Given the description of an element on the screen output the (x, y) to click on. 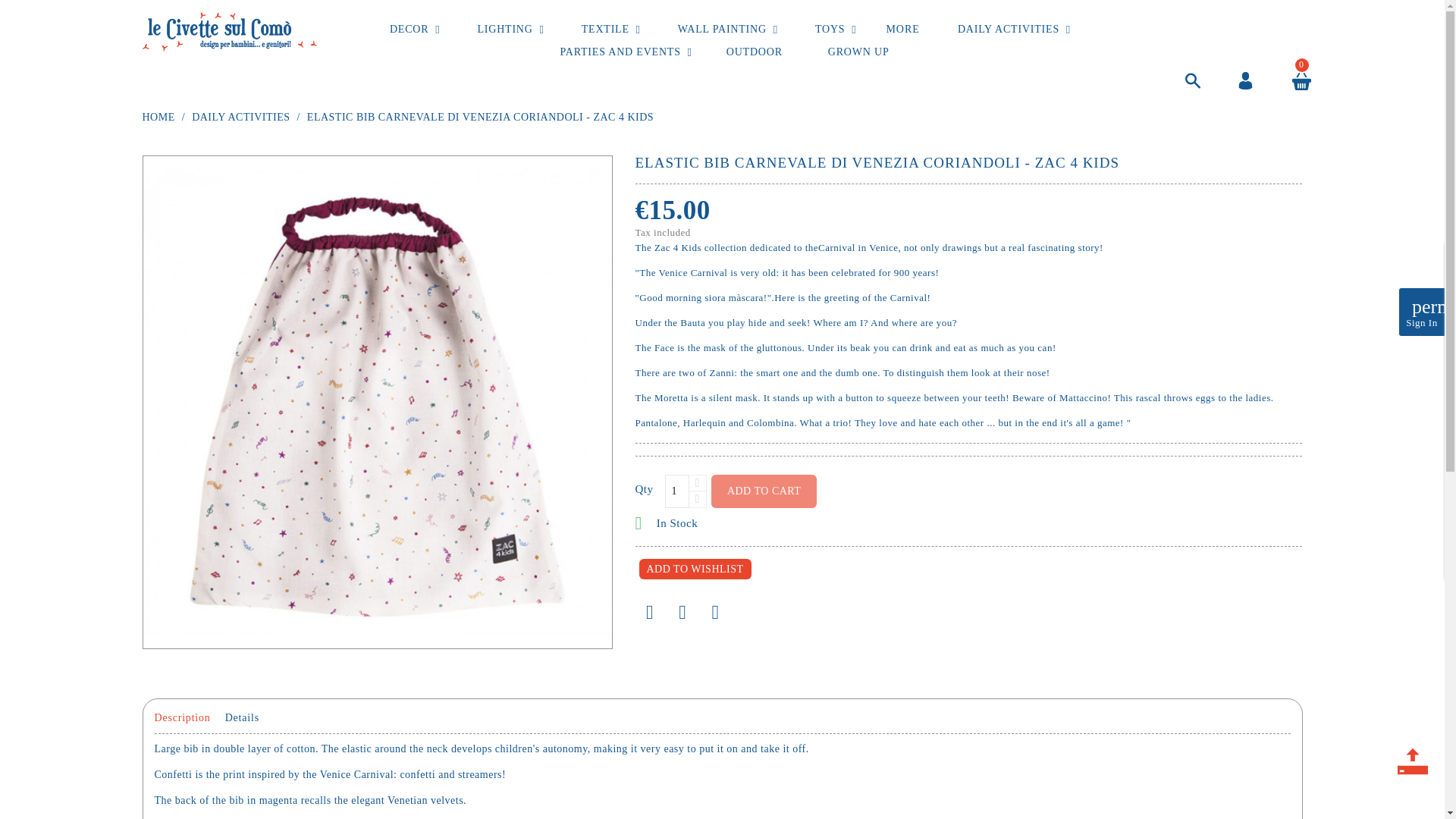
WALL PAINTING (722, 29)
MORE (901, 29)
Share (649, 612)
Tweet (682, 612)
TOYS (830, 29)
LIGHTING (504, 29)
TEXTILE (604, 29)
Pinterest (715, 612)
DECOR (409, 29)
Add to Wishlist (695, 568)
